Given the description of an element on the screen output the (x, y) to click on. 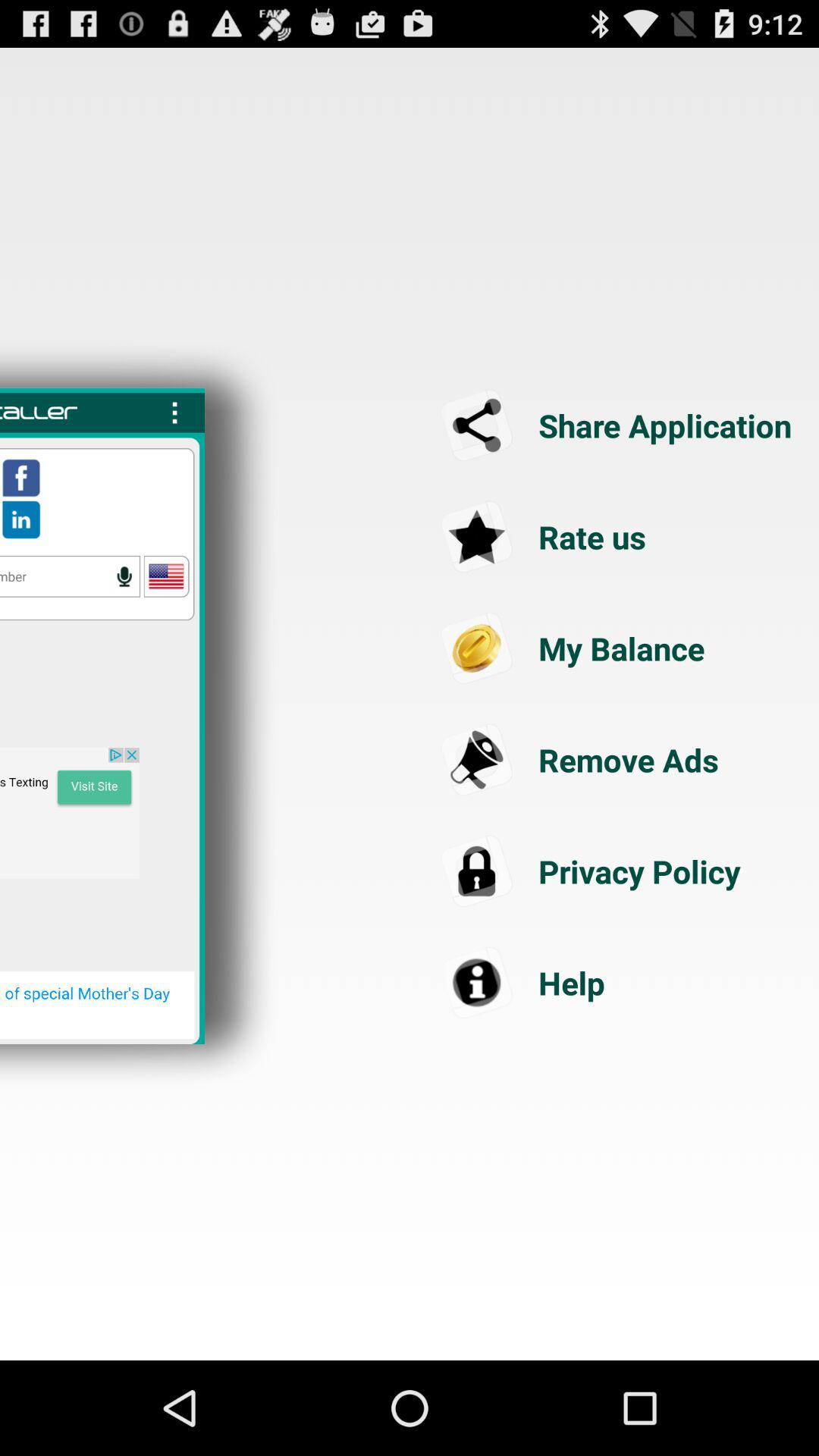
select remove ads on the page (618, 759)
click on the more options icon (174, 413)
select the icon which is under the facebook icon (21, 519)
click on the text privacy policy which is below remove ads (618, 871)
